Given the description of an element on the screen output the (x, y) to click on. 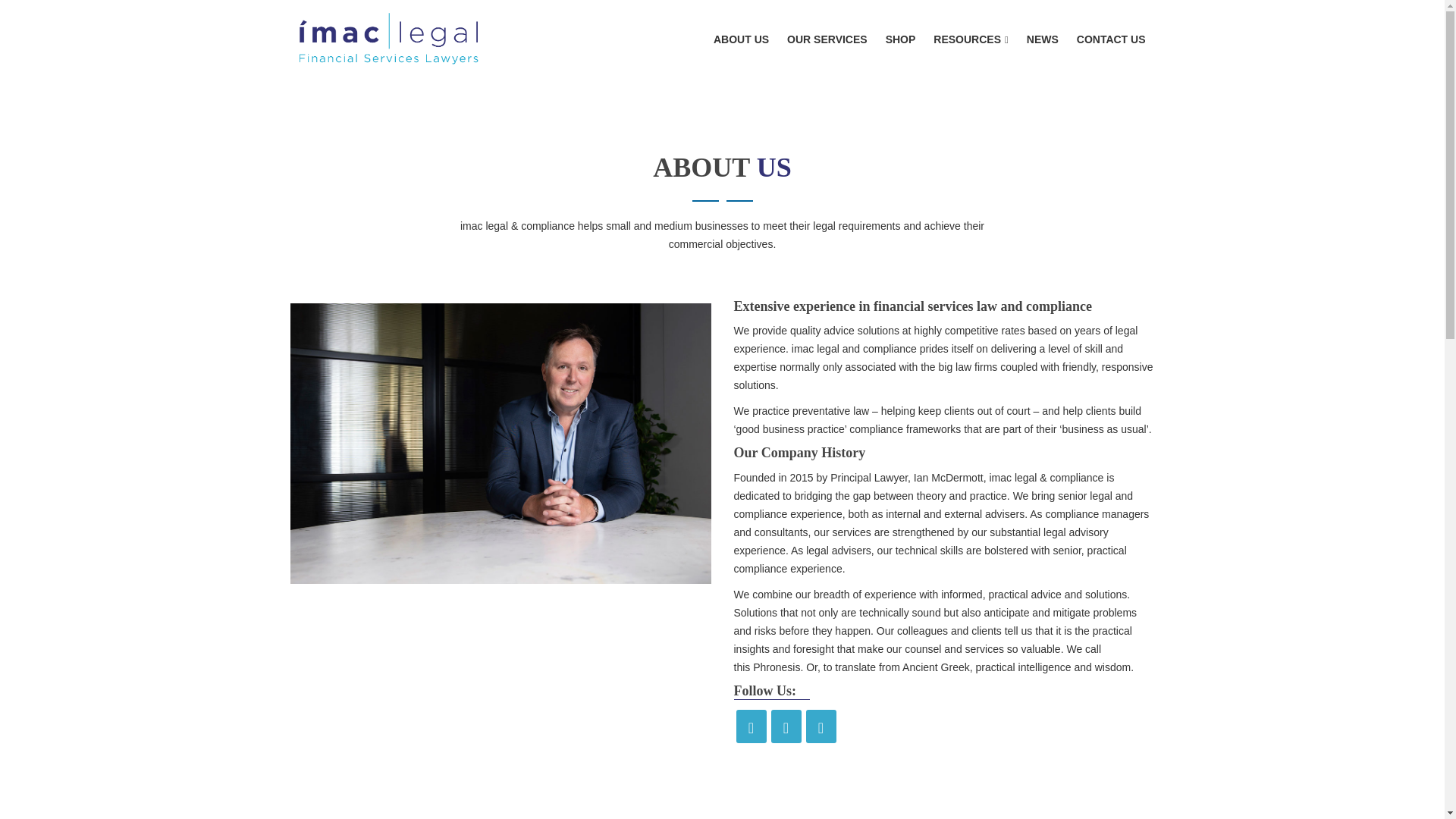
OUR SERVICES (827, 39)
NEWS (1042, 39)
CONTACT US (1111, 39)
ABOUT US (740, 39)
Twitter (750, 726)
linkedin (820, 726)
SHOP (900, 39)
RESOURCES (970, 39)
